Given the description of an element on the screen output the (x, y) to click on. 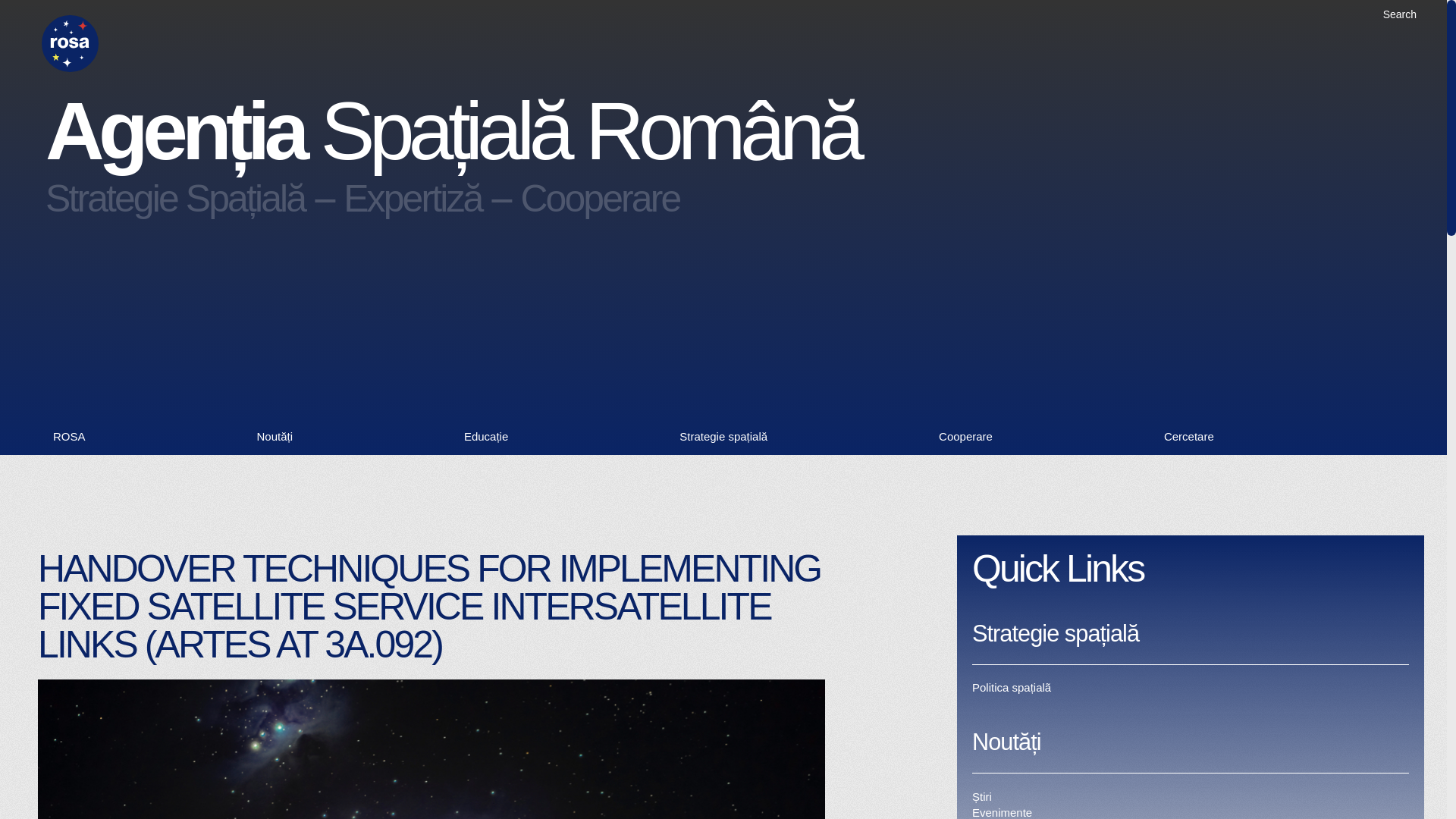
Cooperare (965, 436)
Cercetare (1188, 436)
Search (1399, 14)
ROSA (68, 436)
